Given the description of an element on the screen output the (x, y) to click on. 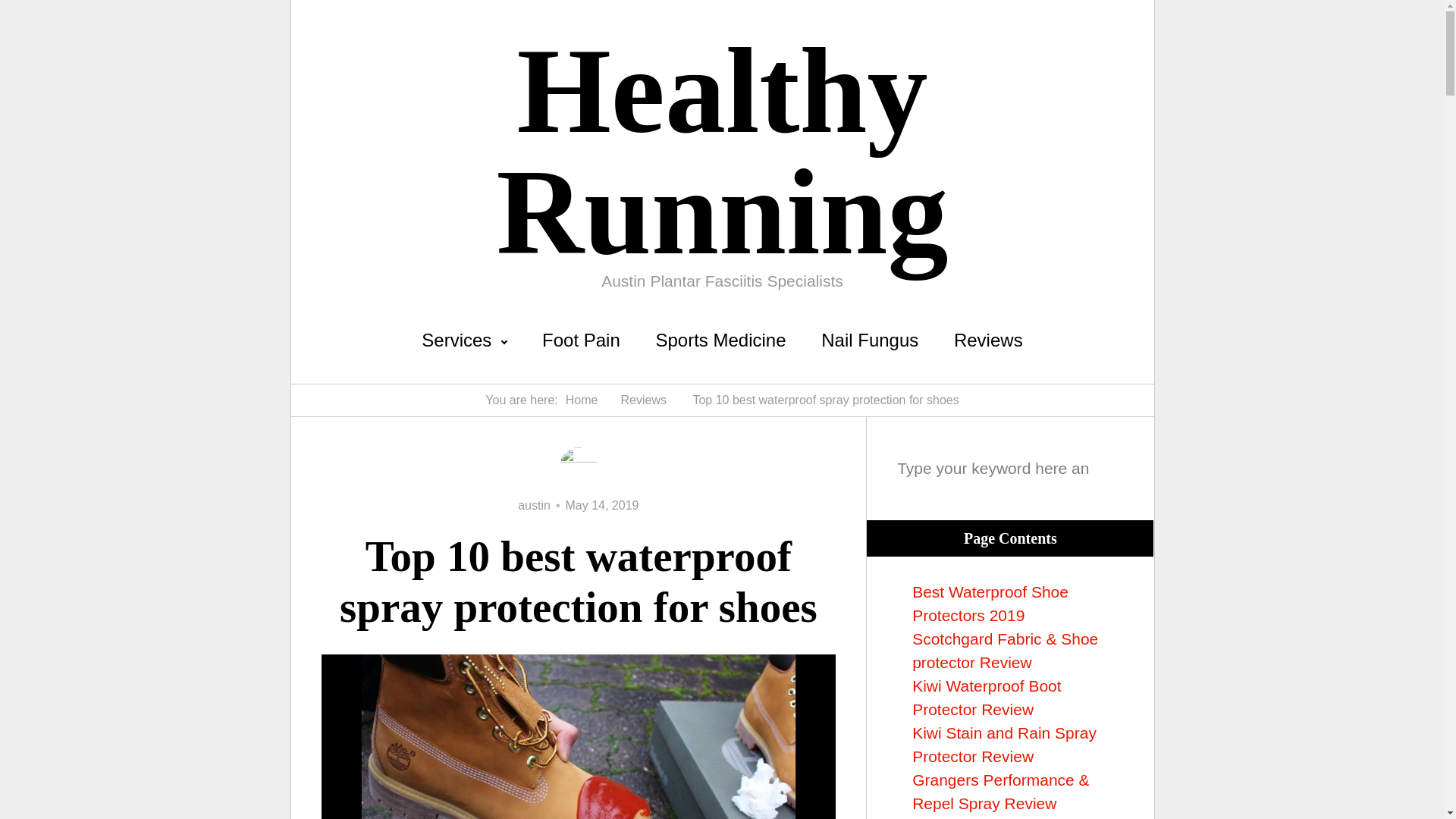
Services (464, 340)
Nail Fungus (869, 340)
austin (534, 504)
Search (1113, 340)
May 14, 2019 (602, 504)
Sports Medicine (720, 340)
Home (582, 399)
Healthy Running (722, 151)
Foot Pain (580, 340)
Reviews (988, 340)
Reviews (642, 399)
